Given the description of an element on the screen output the (x, y) to click on. 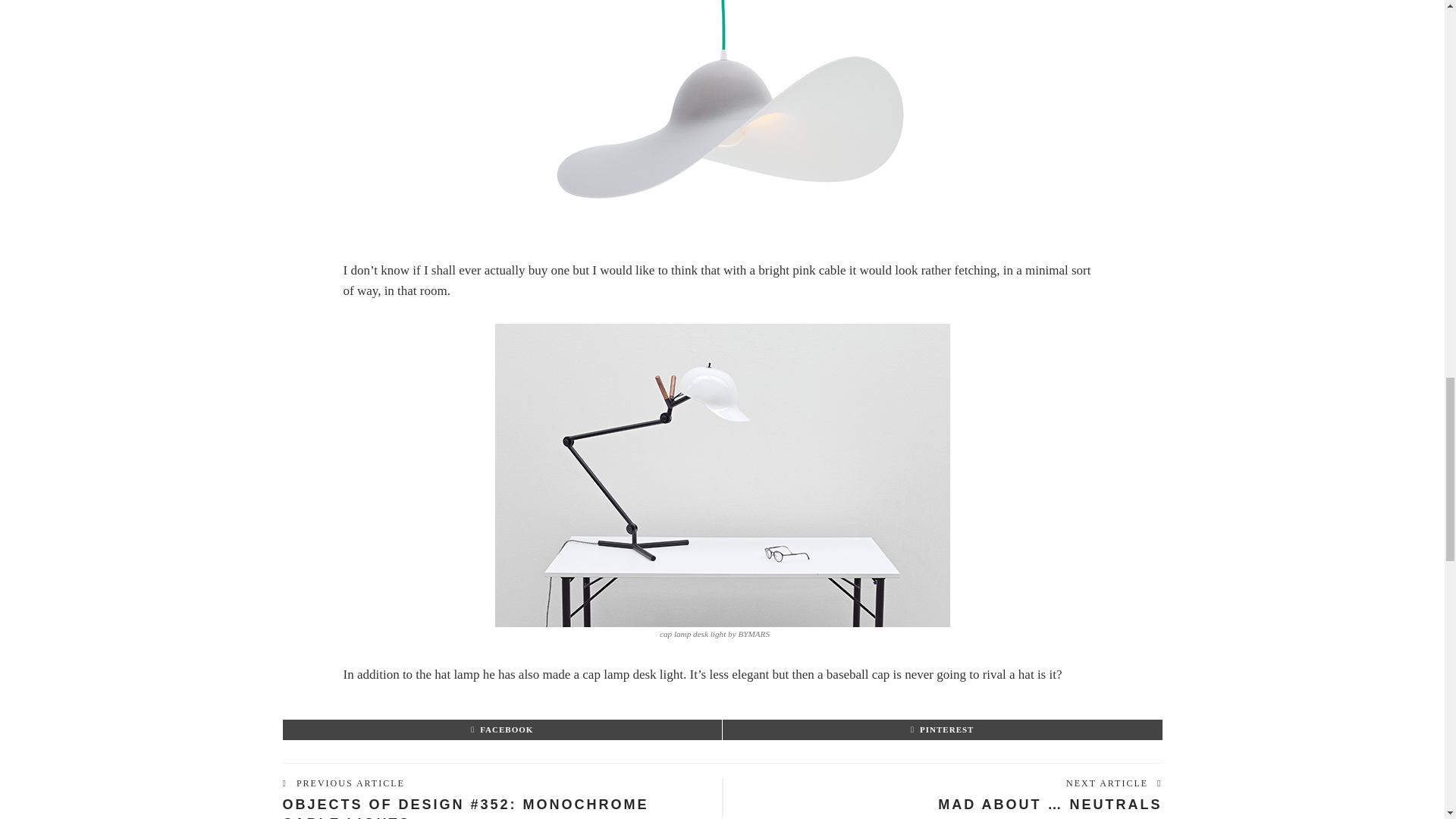
PINTEREST (942, 728)
FACEBOOK (501, 728)
